Given the description of an element on the screen output the (x, y) to click on. 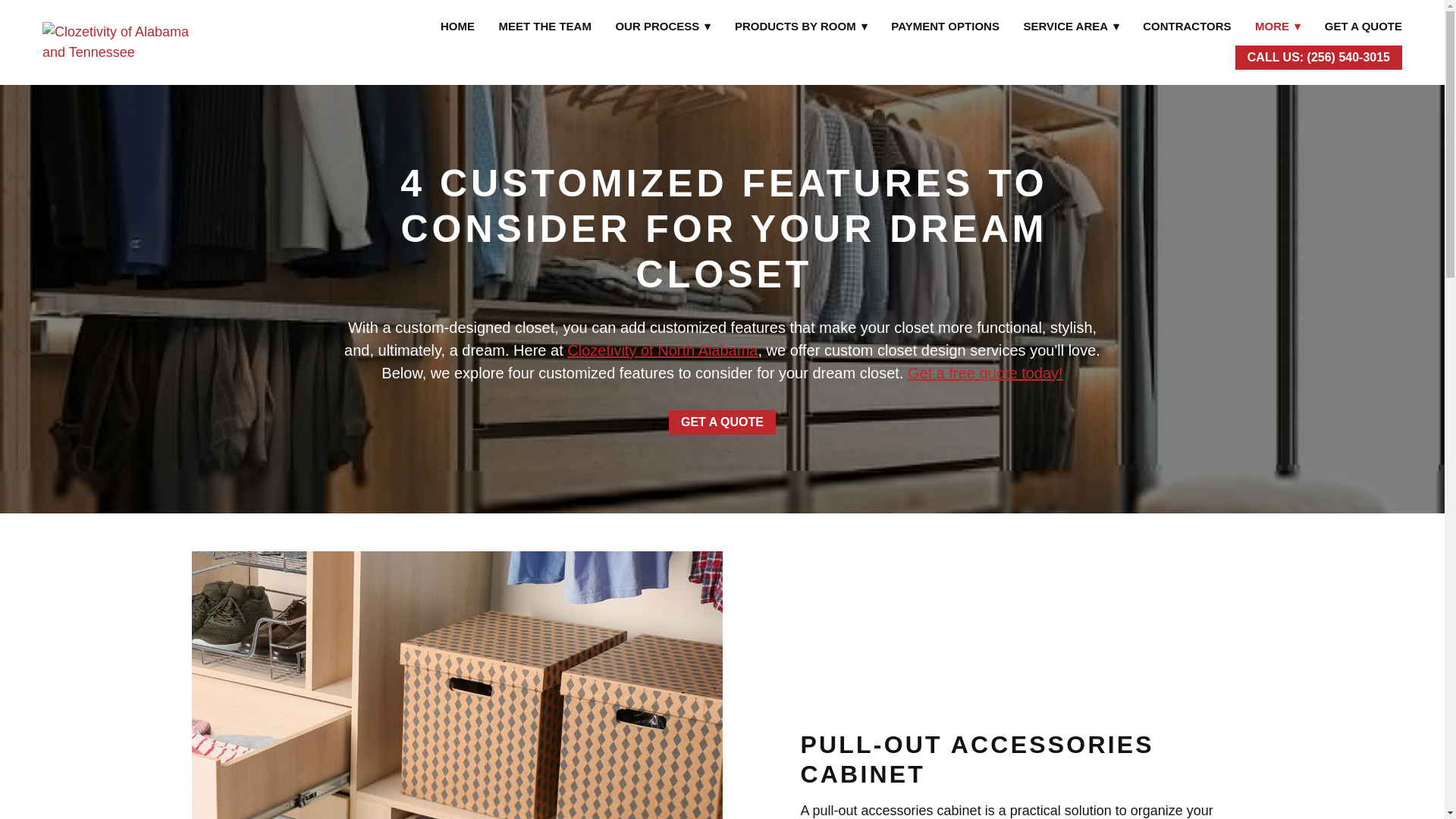
CONTRACTORS (1186, 26)
HOME (457, 26)
PAYMENT OPTIONS (944, 26)
GET A QUOTE (1363, 26)
Clozetivity of North Alabama (662, 350)
Clozetivity of Alabama and Tennessee (116, 42)
MEET THE TEAM (544, 26)
Get a free quote today! (984, 372)
GET A QUOTE (722, 422)
